Given the description of an element on the screen output the (x, y) to click on. 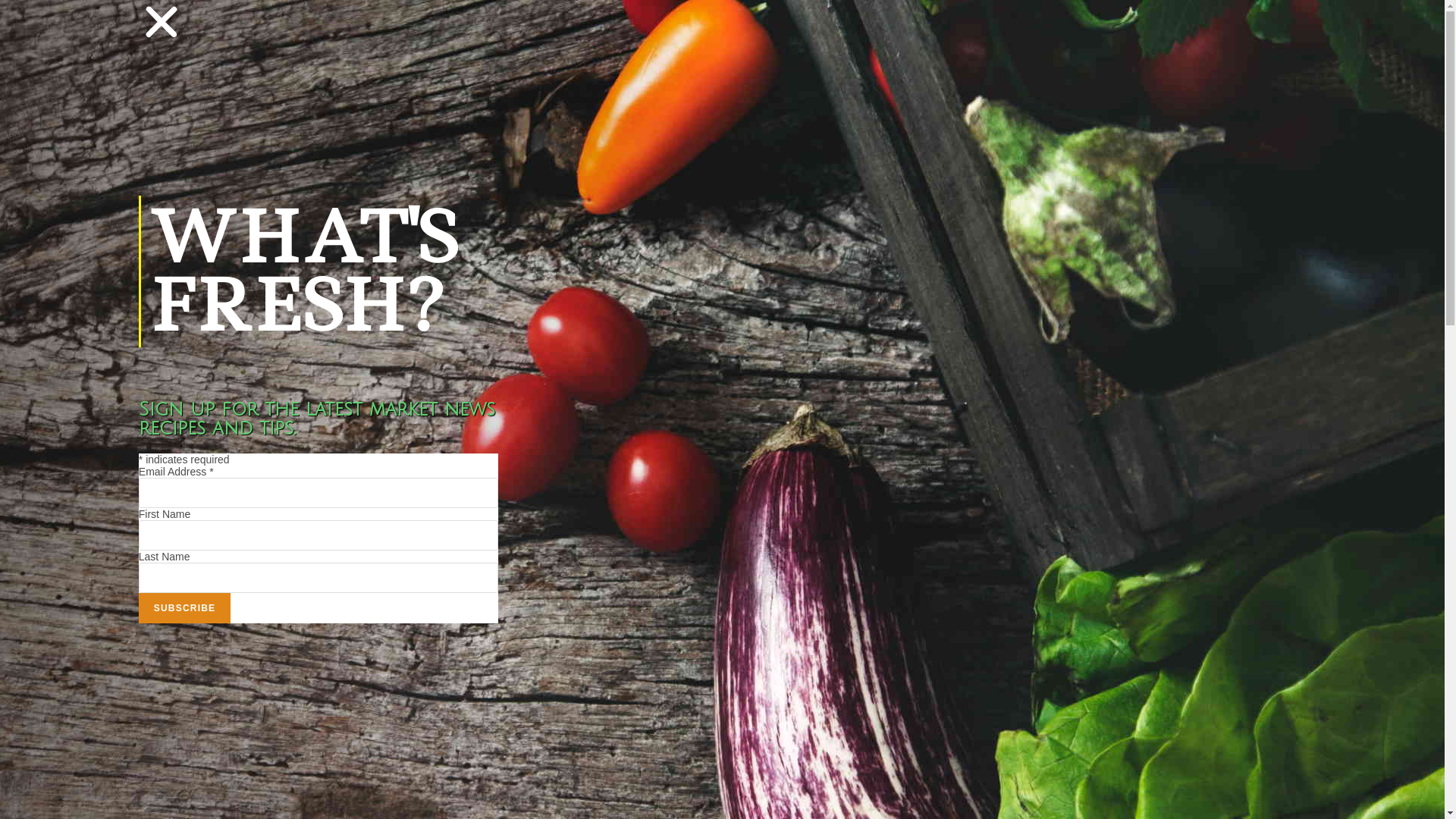
Murwillumbah Farmers' Market Element type: text (361, 349)
Sign up now to our Newsletter Element type: text (1406, 408)
Around the Market Element type: text (969, 201)
Home Element type: text (369, 37)
Our Stallholders Element type: text (548, 37)
Around the Market Element type: text (623, 349)
Murwillumbah Farmers' Market Element type: text (1022, 801)
Subscribe Element type: text (184, 608)
Recipes Element type: text (745, 37)
Follow Us Element type: text (984, 282)
About Us Element type: text (446, 37)
